Given the description of an element on the screen output the (x, y) to click on. 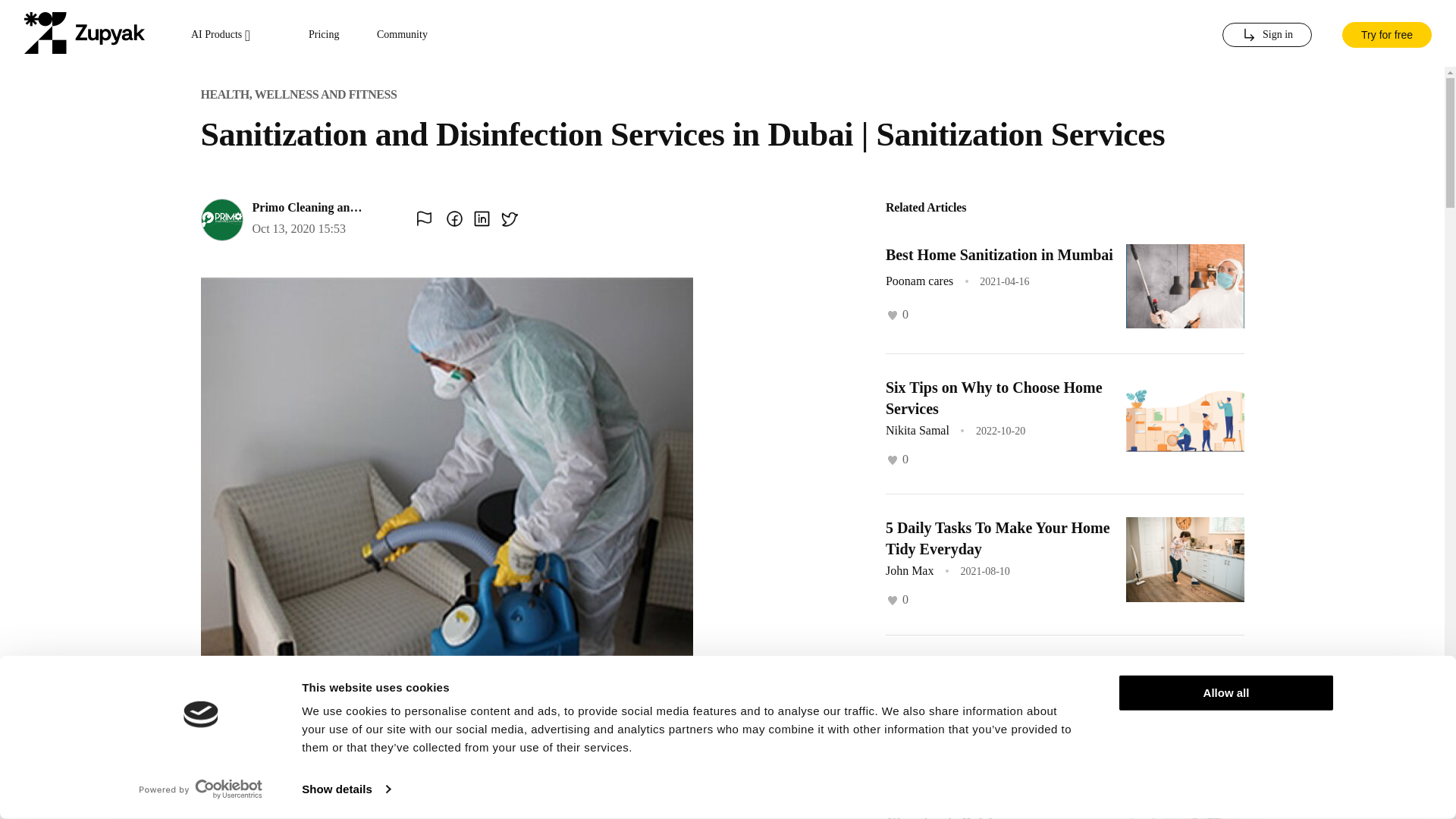
Best Home Sanitization in Mumbai (999, 254)
Show details (345, 789)
5 Daily Tasks To Make Your Home Tidy Everyday (997, 538)
Keeping Flu from Spreading (977, 668)
The Best Options for End of Lease Cleaning is Brisbane (996, 806)
Six Tips on Why to Choose Home Services (993, 397)
